Given the description of an element on the screen output the (x, y) to click on. 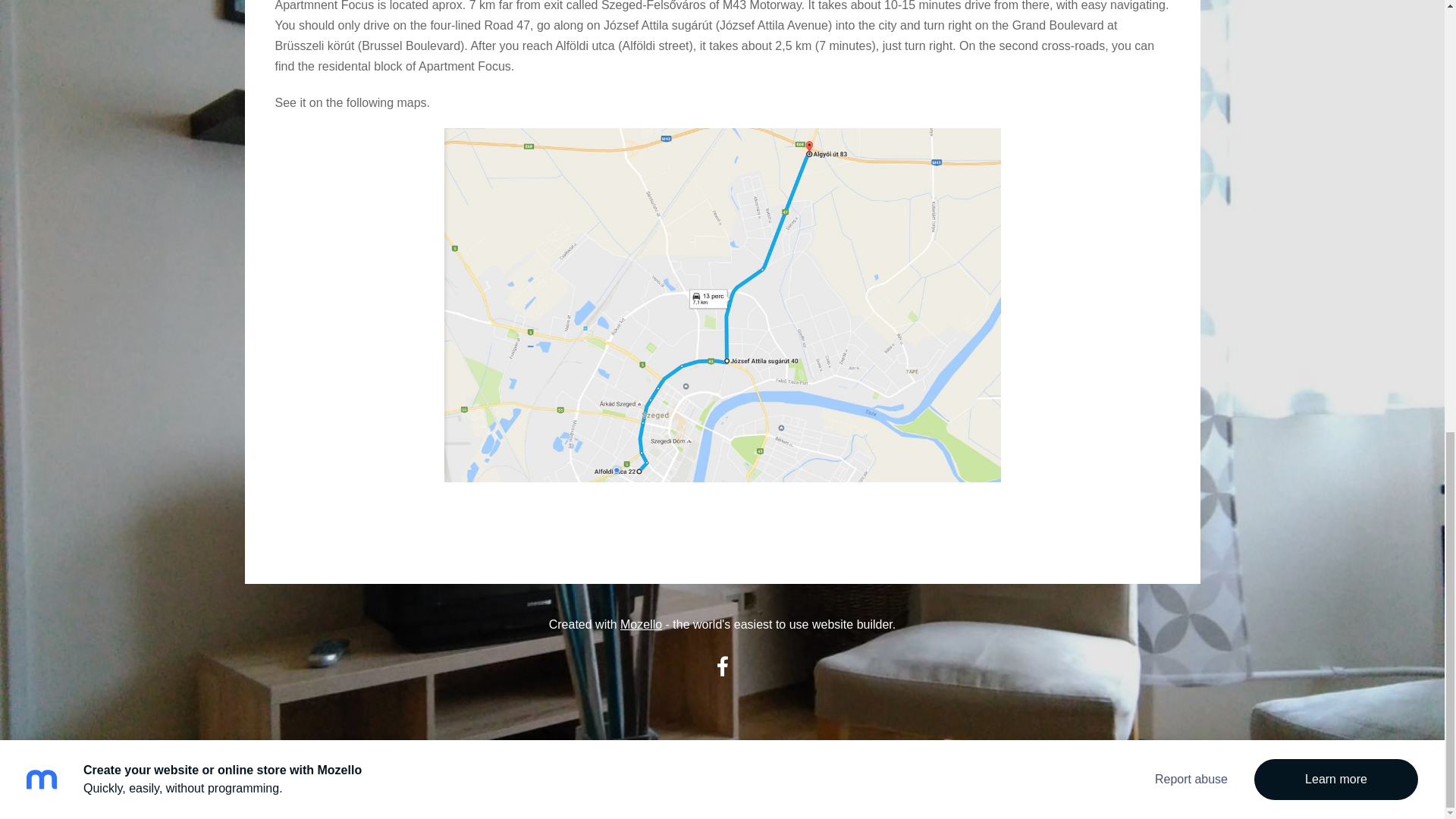
Mozello (641, 624)
Facebook (721, 665)
